Given the description of an element on the screen output the (x, y) to click on. 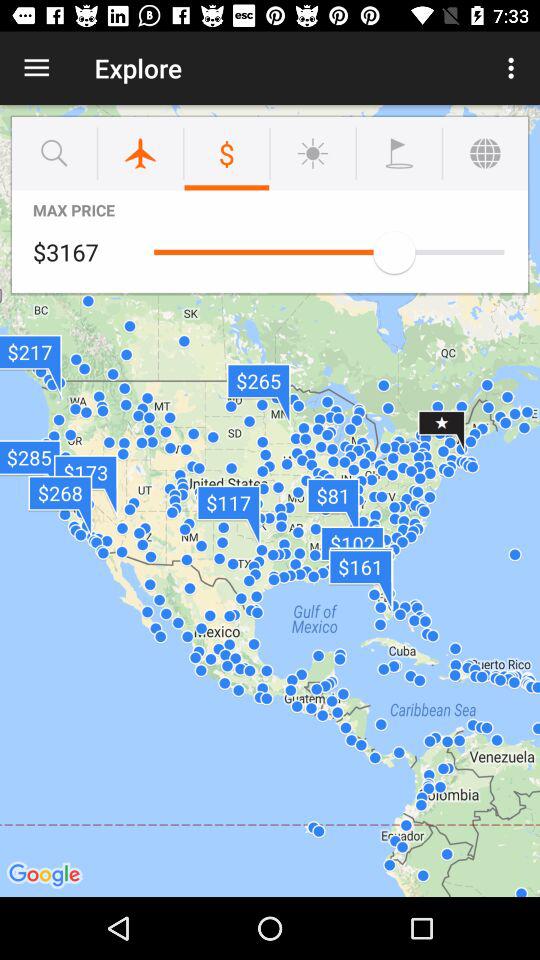
click item next to the explore item (36, 68)
